Given the description of an element on the screen output the (x, y) to click on. 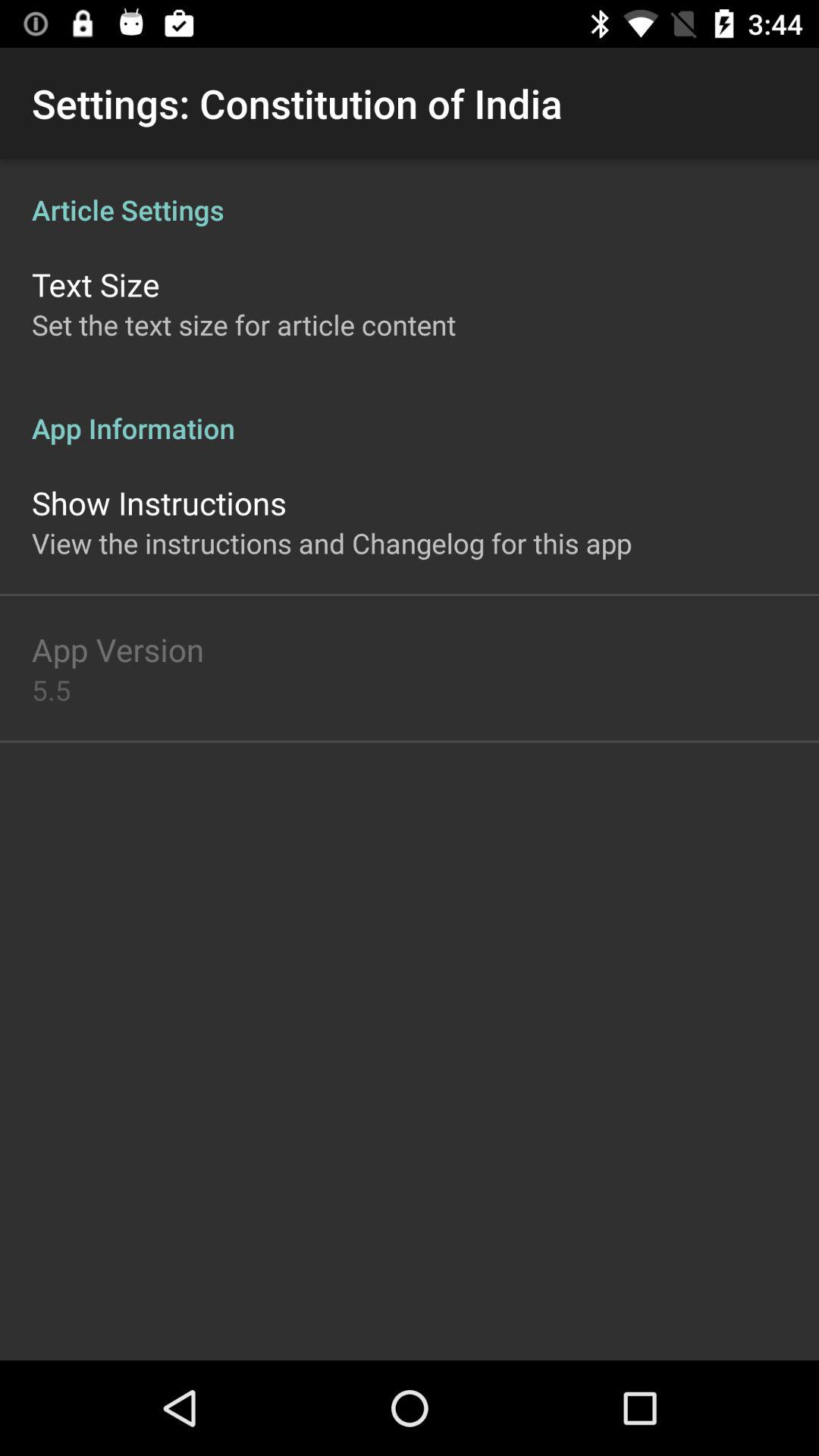
choose the set the text app (243, 324)
